Given the description of an element on the screen output the (x, y) to click on. 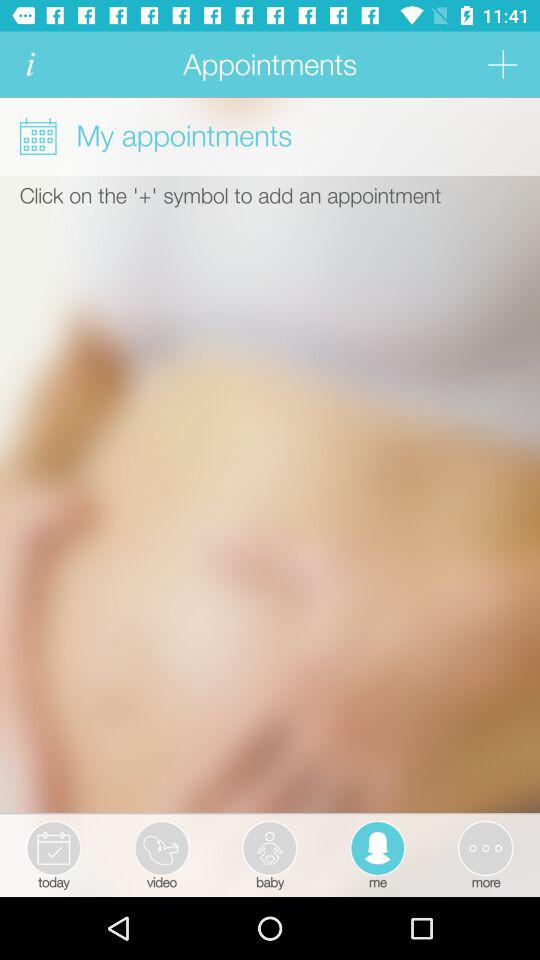
adds appointment (502, 63)
